Given the description of an element on the screen output the (x, y) to click on. 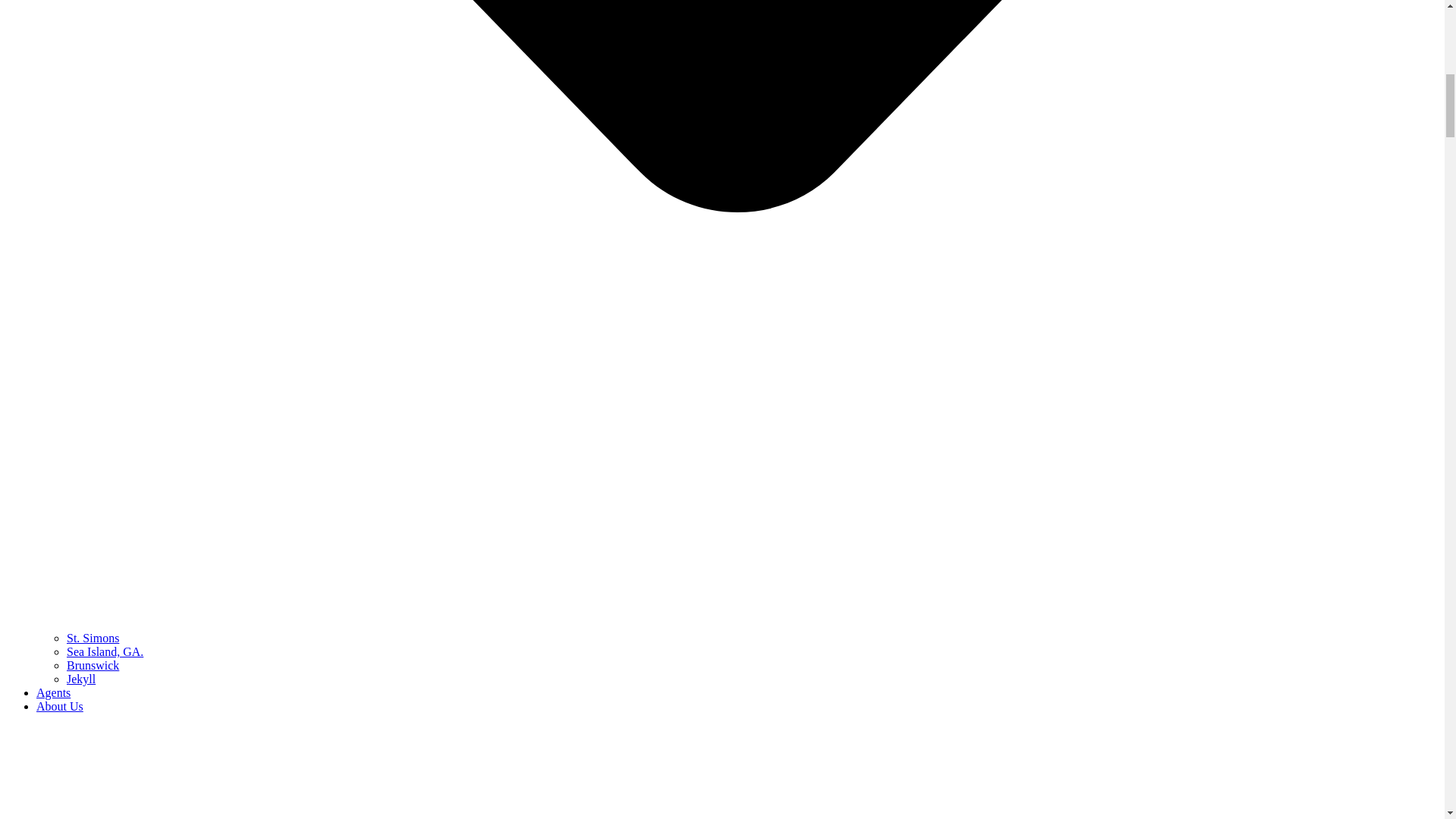
Jekyll (81, 678)
Sea Island, GA. (104, 651)
St. Simons (92, 637)
Agents (52, 692)
Brunswick (92, 665)
